Given the description of an element on the screen output the (x, y) to click on. 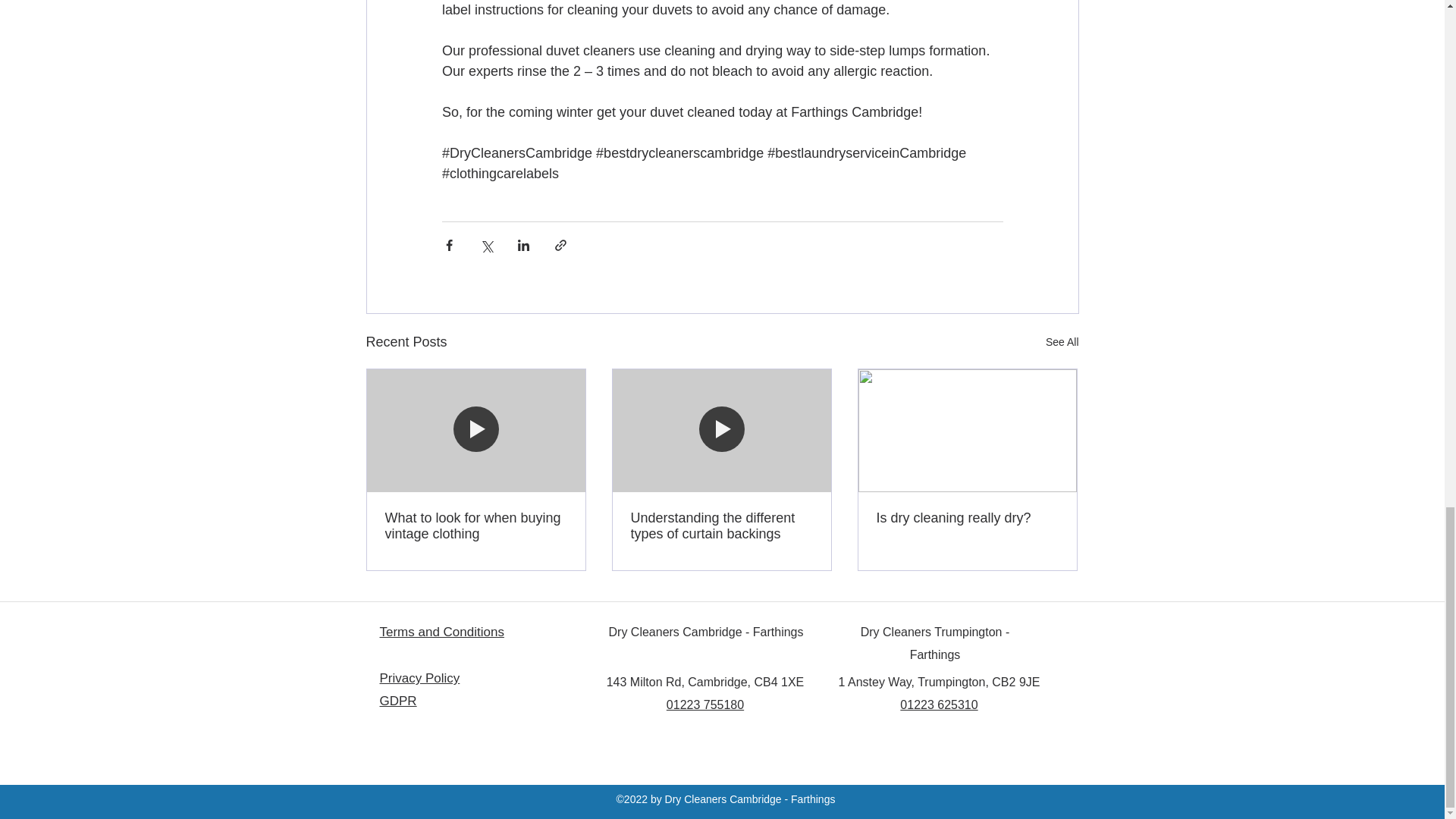
See All (1061, 341)
What to look for when buying vintage clothing (476, 526)
Farthings Cambridge (854, 111)
Understanding the different types of curtain backings (721, 526)
Is dry cleaning really dry? (967, 518)
